Given the description of an element on the screen output the (x, y) to click on. 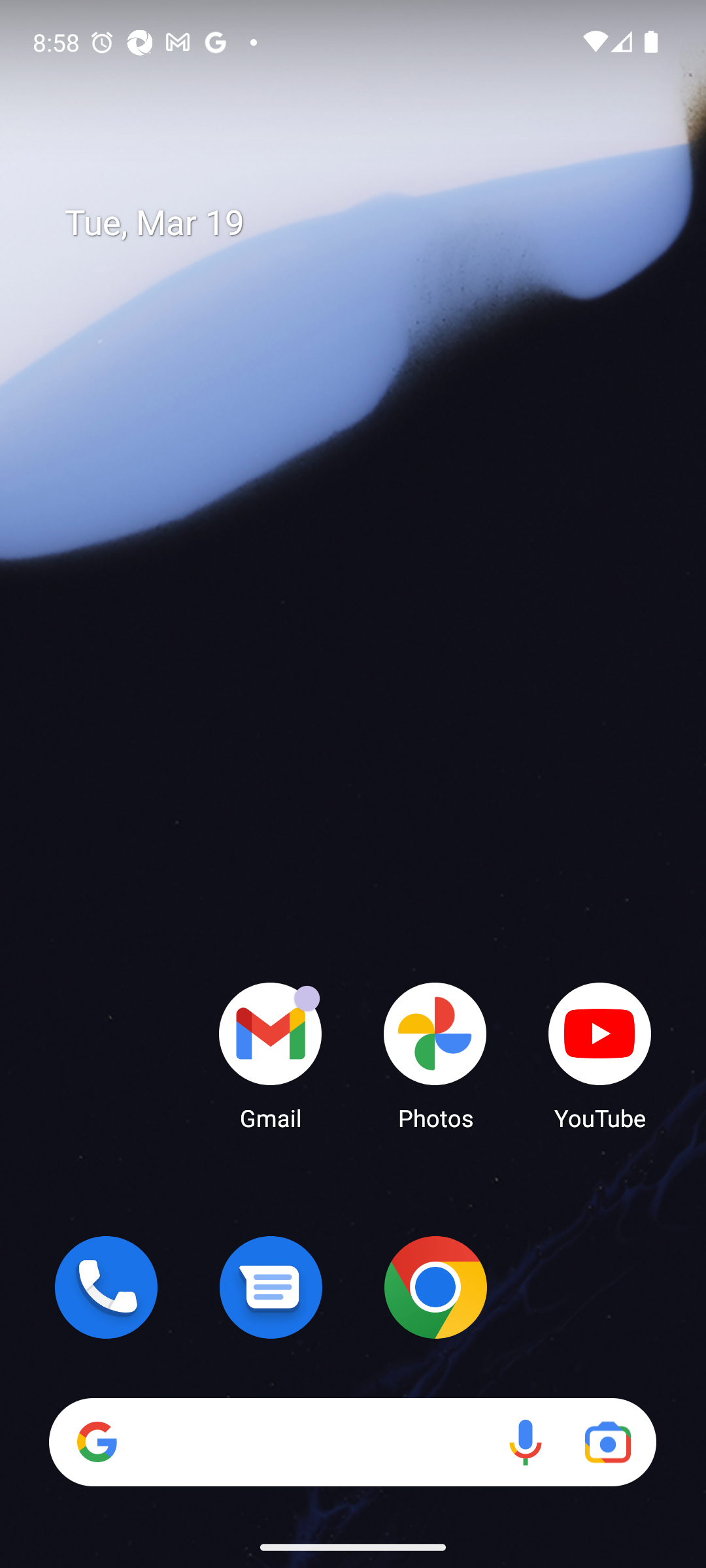
Tue, Mar 19 (366, 223)
Gmail Gmail has 18 notifications (270, 1054)
Photos (435, 1054)
YouTube (599, 1054)
Phone (106, 1287)
Messages (270, 1287)
Chrome (435, 1287)
Voice search (525, 1441)
Google Lens (607, 1441)
